Given the description of an element on the screen output the (x, y) to click on. 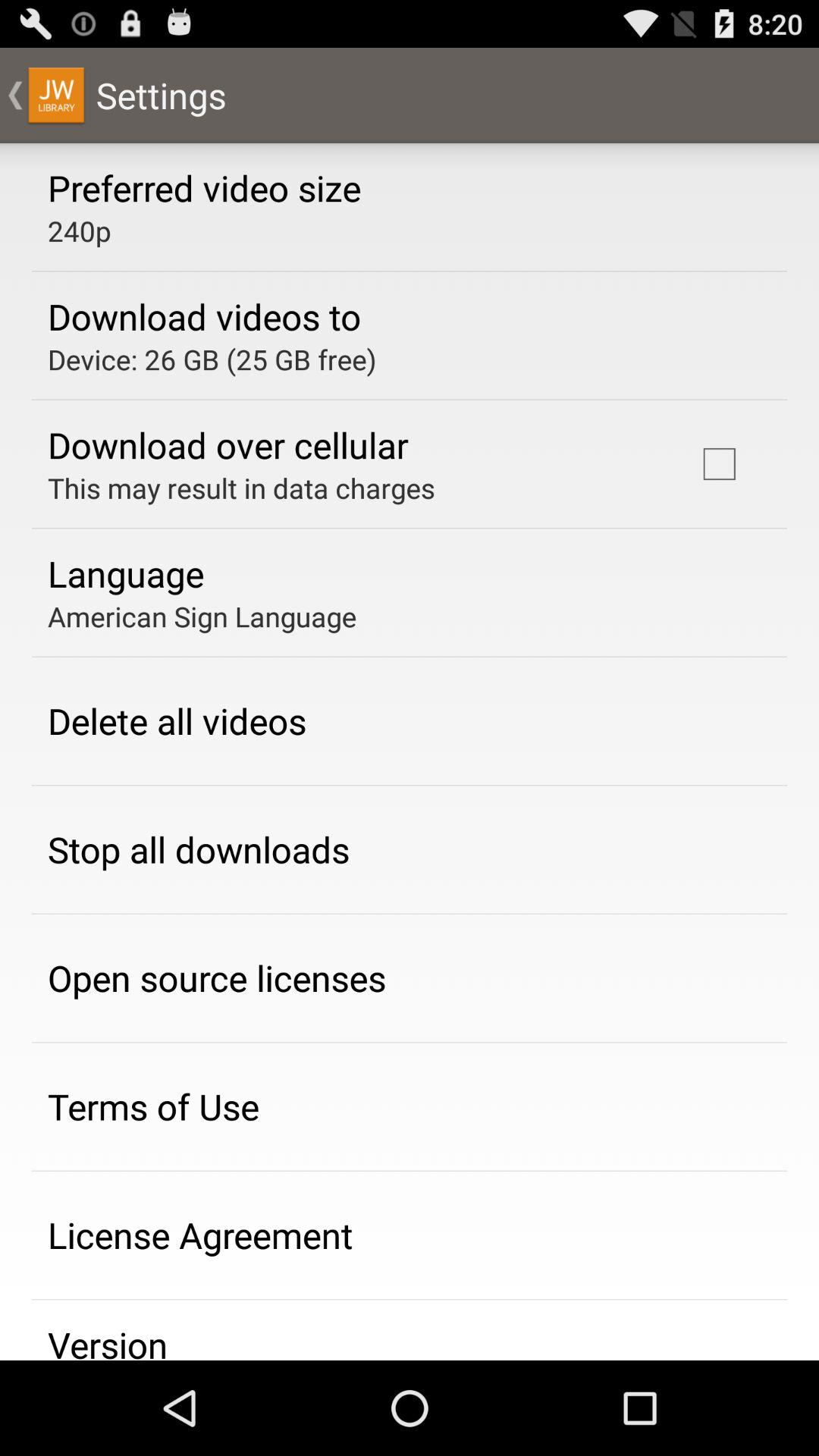
turn off the icon above the version app (200, 1234)
